Given the description of an element on the screen output the (x, y) to click on. 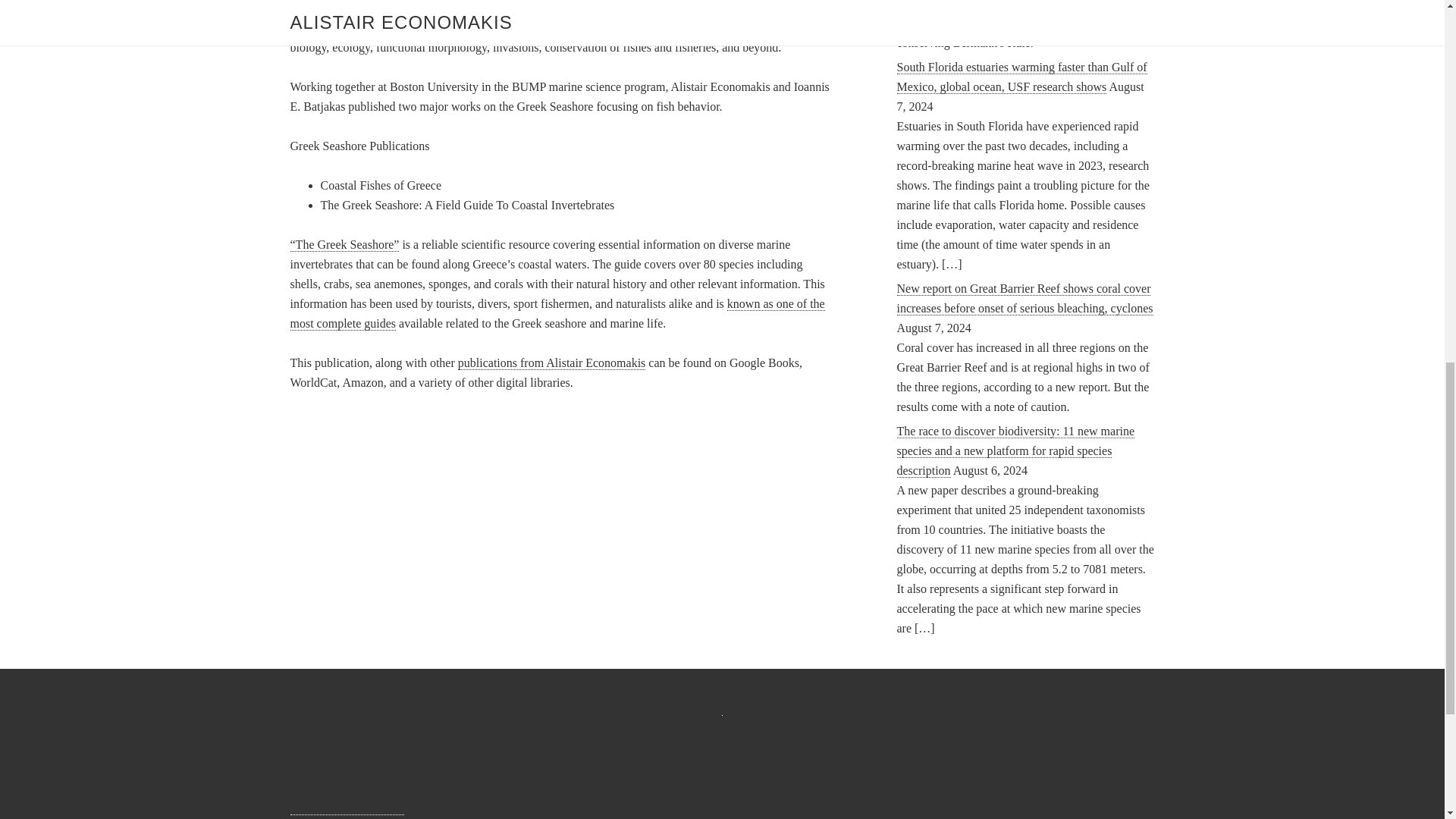
publications from Alistair Economakis (552, 363)
known as one of the most complete guides (556, 313)
